Given the description of an element on the screen output the (x, y) to click on. 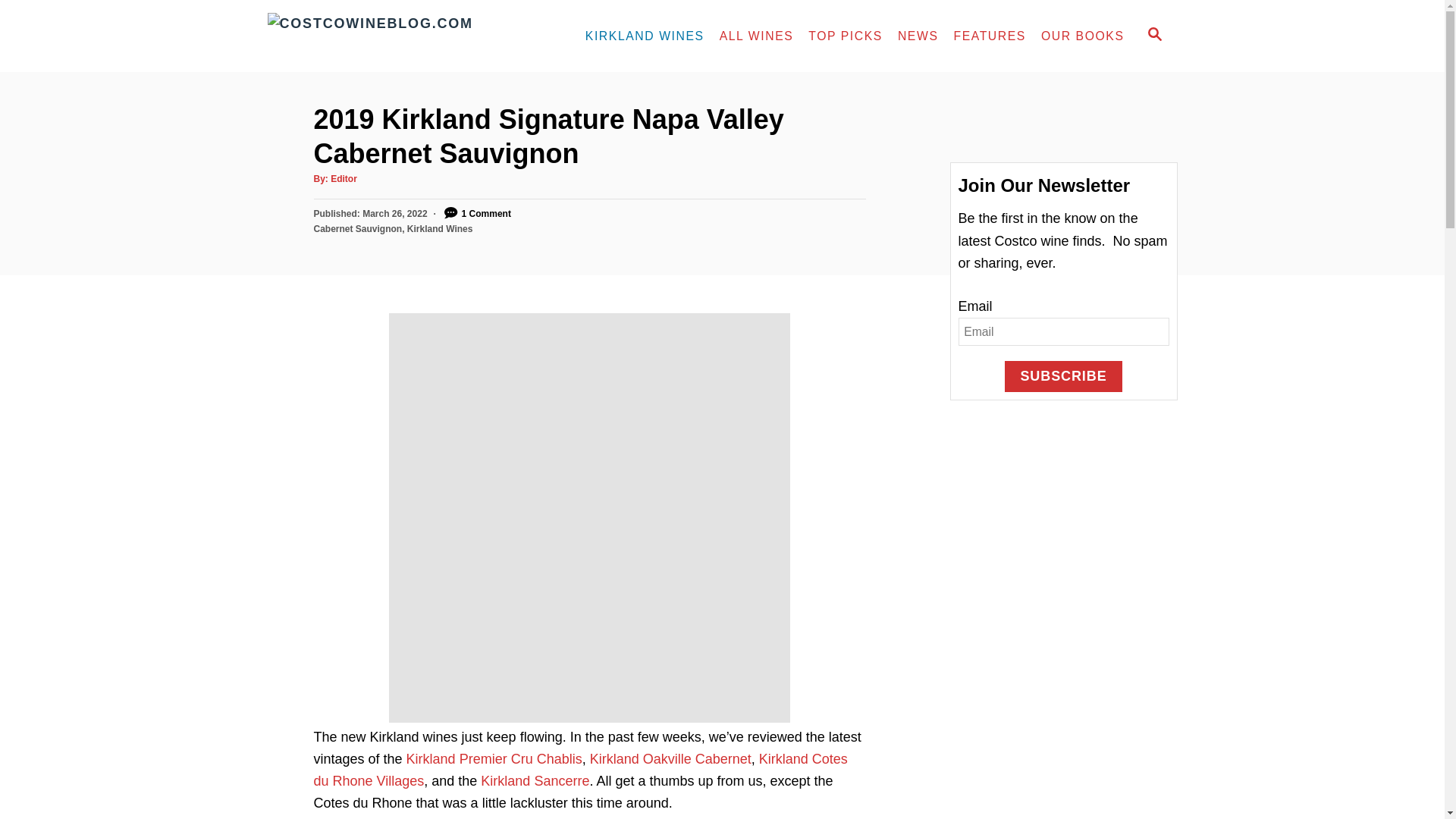
Kirkland Cotes du Rhone Villages (580, 769)
FEATURES (988, 36)
TOP PICKS (844, 36)
CostcoWineBlog.com (400, 36)
Kirkland Wines (440, 228)
Cabernet Sauvignon (358, 228)
Kirkland Premier Cru Chablis (494, 758)
Editor (343, 178)
SEARCH (1154, 35)
Kirkland Oakville Cabernet (670, 758)
